Given the description of an element on the screen output the (x, y) to click on. 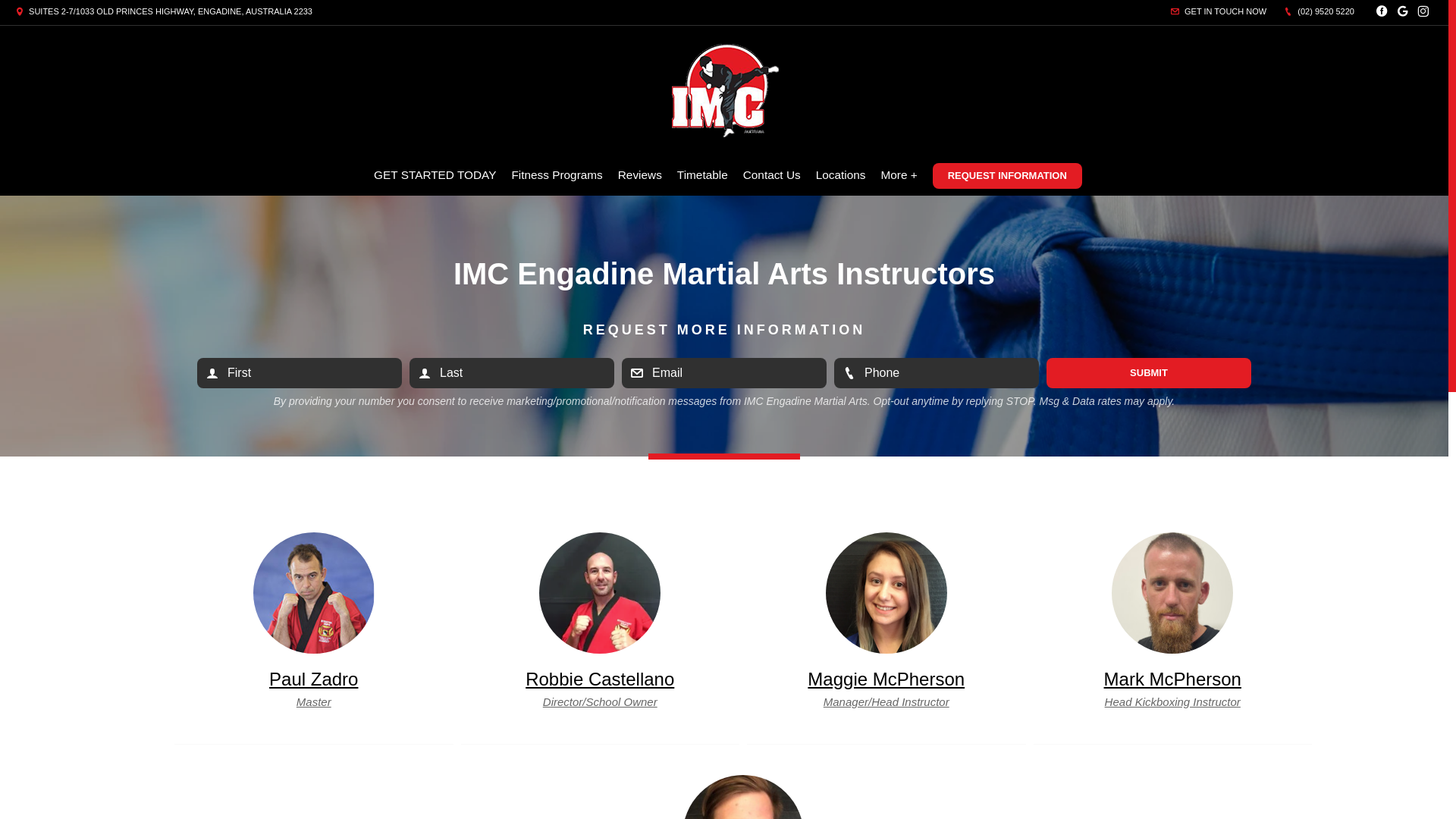
Timetable Element type: text (702, 174)
Required Element type: hover (723, 372)
First Element type: hover (299, 372)
Required Element type: hover (936, 372)
GET STARTED TODAY Element type: text (434, 174)
Paul Zadro
Master Element type: text (313, 638)
Contact Us Element type: text (771, 174)
REQUEST INFORMATION Element type: text (1007, 175)
Mark McPherson
Head Kickboxing Instructor Element type: text (1171, 638)
SUBMIT Element type: text (1148, 372)
Reviews Element type: text (639, 174)
Locations Element type: text (840, 174)
Last Element type: hover (511, 372)
Fitness Programs Element type: text (556, 174)
More + Element type: text (898, 174)
Maggie McPherson
Manager/Head Instructor Element type: text (886, 638)
Robbie Castellano
Director/School Owner Element type: text (600, 638)
GET IN TOUCH NOW Element type: text (1218, 10)
(02) 9520 5220 Element type: text (1318, 10)
